Given the description of an element on the screen output the (x, y) to click on. 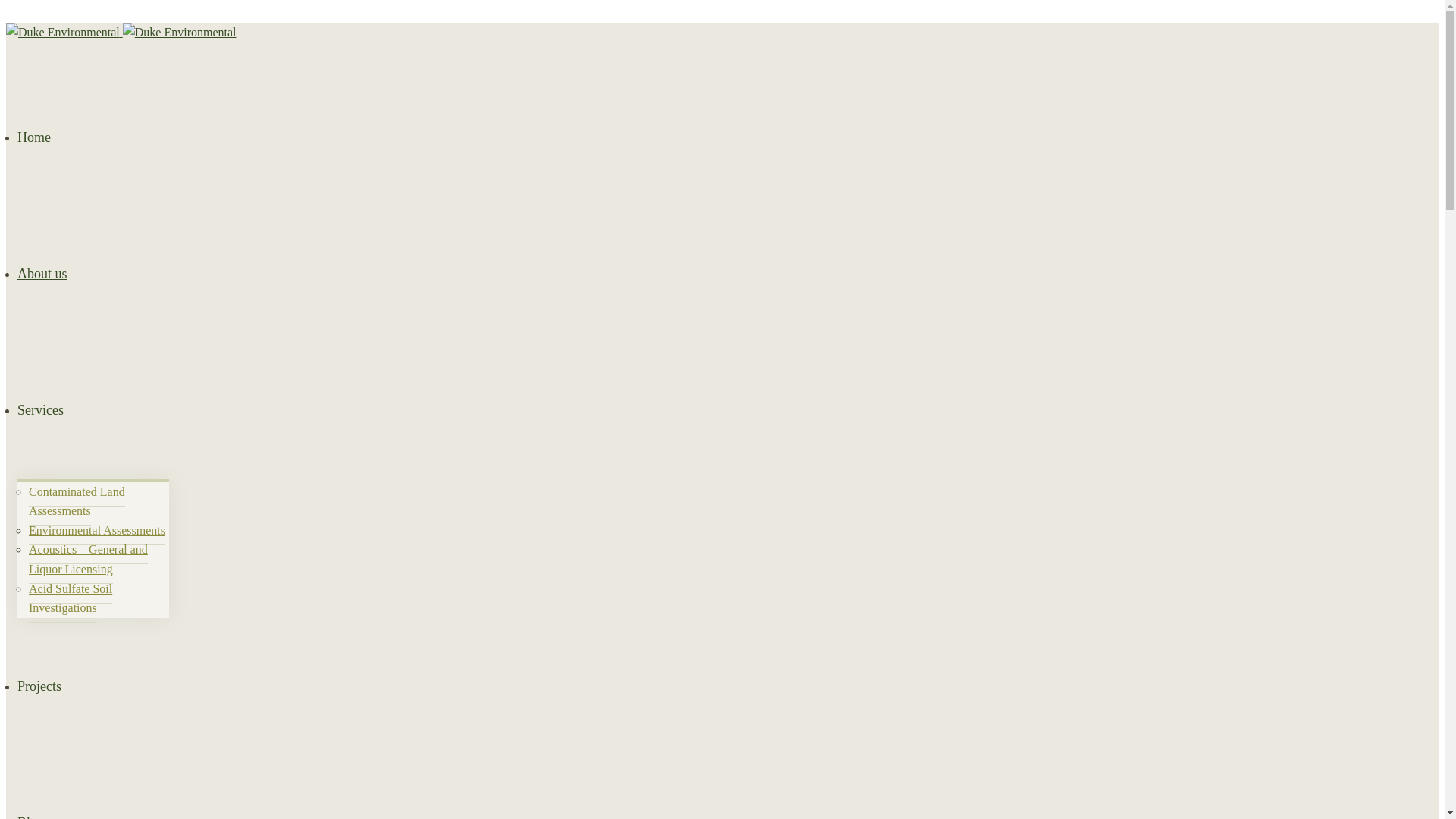
Projects Element type: text (39, 685)
About us Element type: text (42, 273)
Services Element type: text (40, 409)
Home Element type: text (33, 136)
Acid Sulfate Soil Investigations Element type: text (70, 598)
Environmental Assessments Element type: text (96, 530)
Contaminated Land Assessments Element type: text (76, 501)
